Given the description of an element on the screen output the (x, y) to click on. 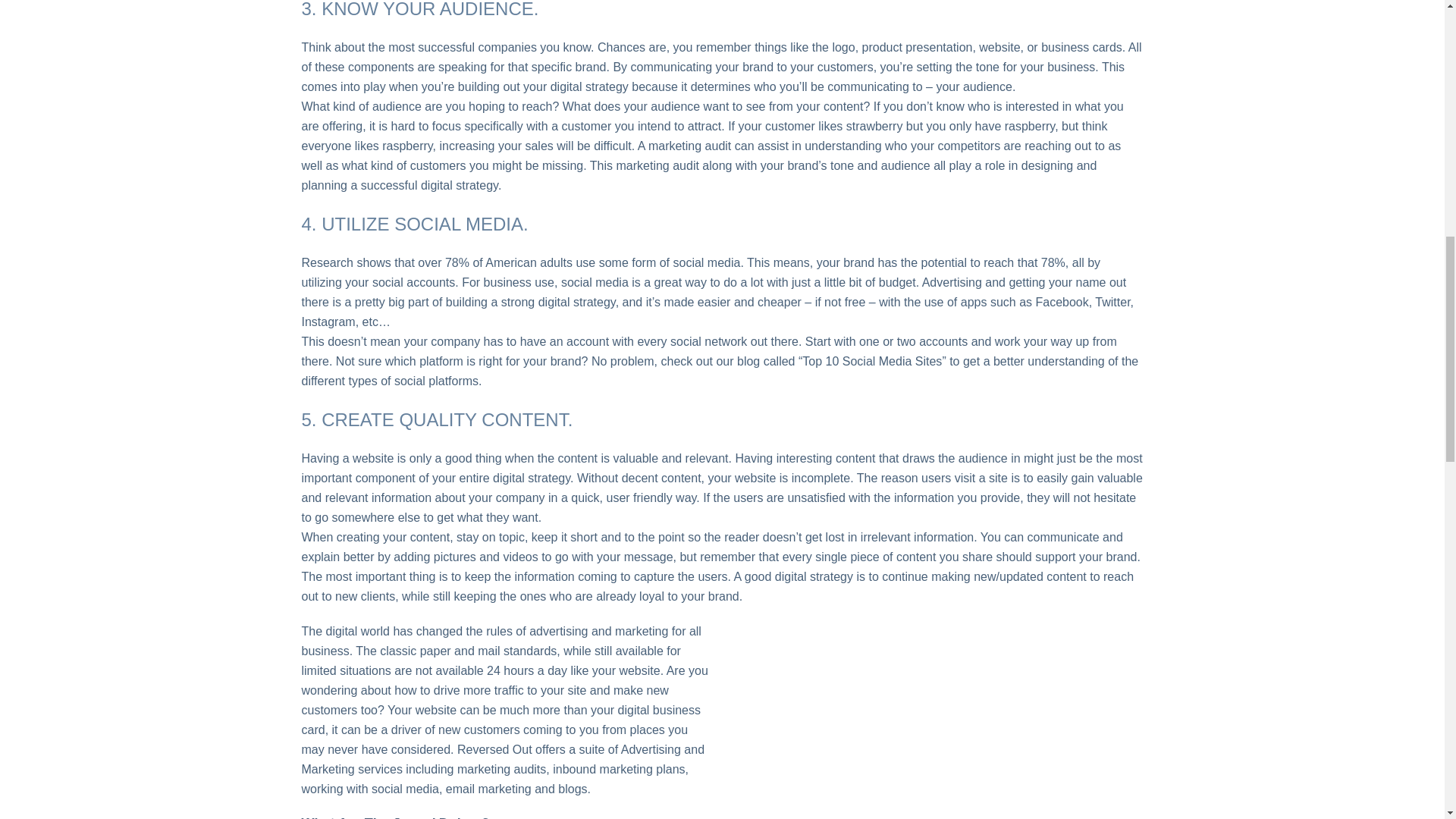
Facebook (1061, 301)
Instagram (328, 321)
pictures and videos (485, 556)
Top 10 Social Media Sites (872, 360)
content (576, 458)
Twitter (1111, 301)
